Given the description of an element on the screen output the (x, y) to click on. 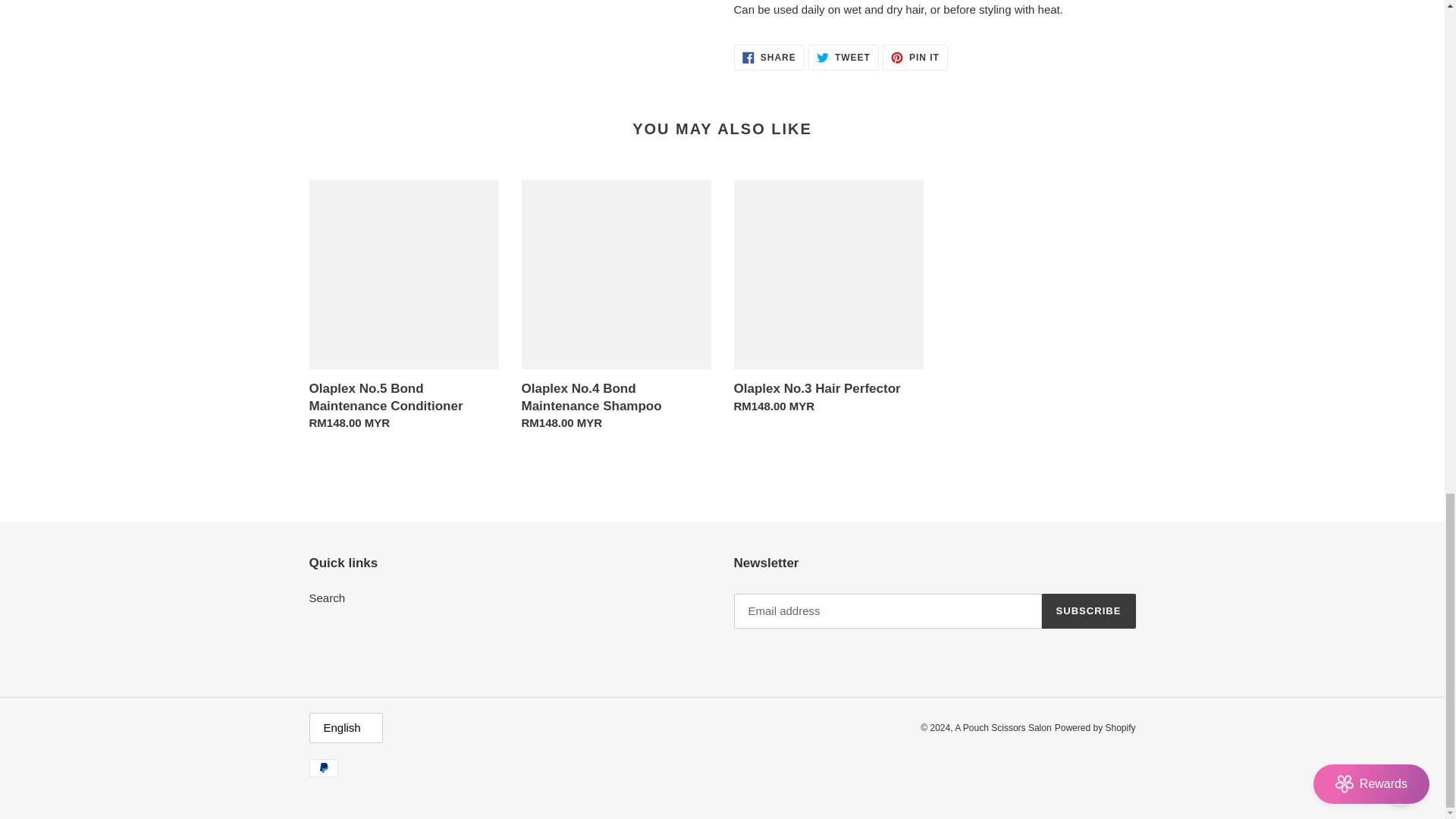
Olaplex No.5 Bond Maintenance Conditioner (769, 57)
Olaplex No.4 Bond Maintenance Shampoo (843, 57)
Olaplex No.3 Hair Perfector (403, 308)
Search (616, 308)
SUBSCRIBE (828, 299)
English (914, 57)
